Given the description of an element on the screen output the (x, y) to click on. 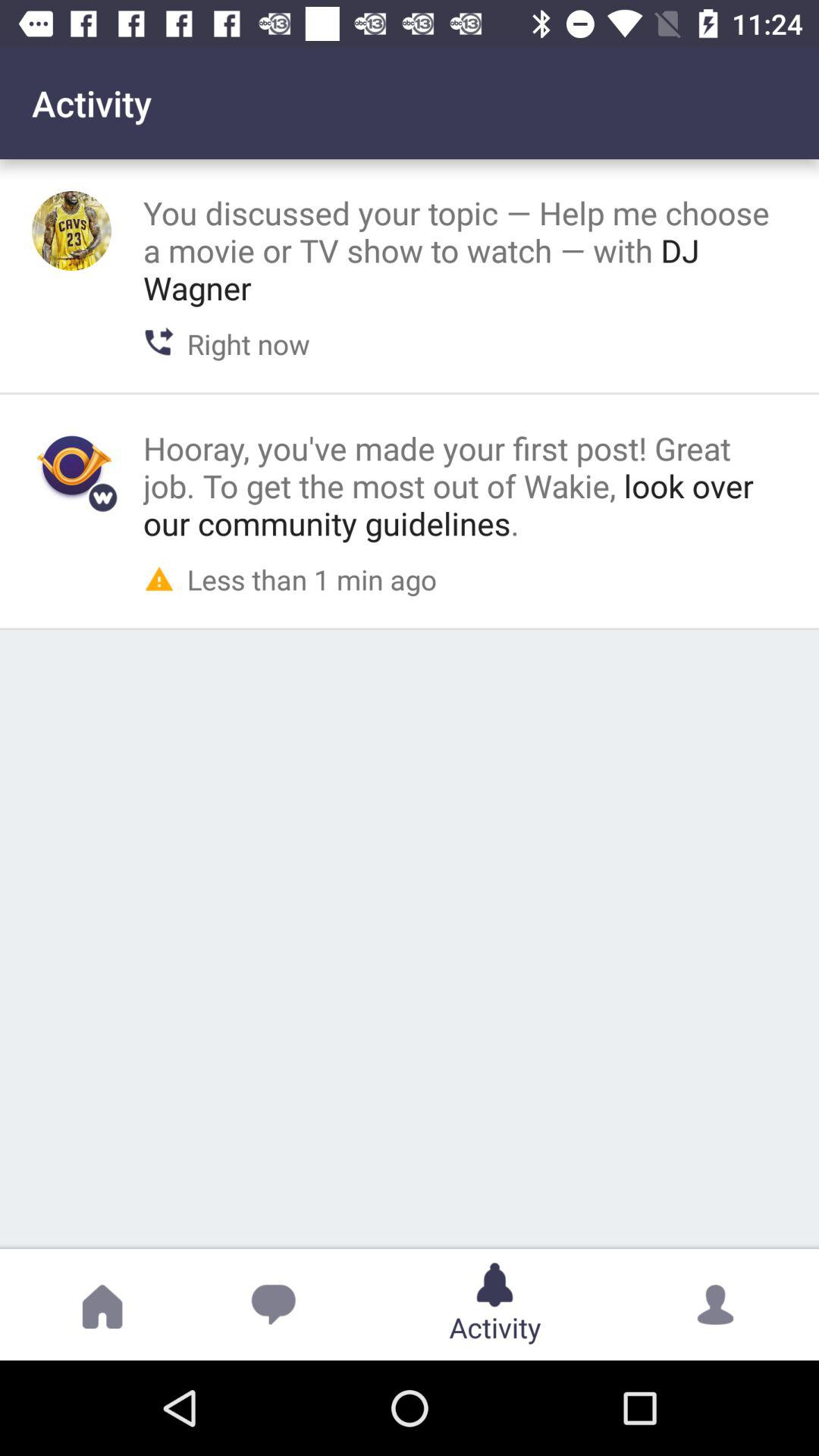
select poster icon (71, 466)
